Given the description of an element on the screen output the (x, y) to click on. 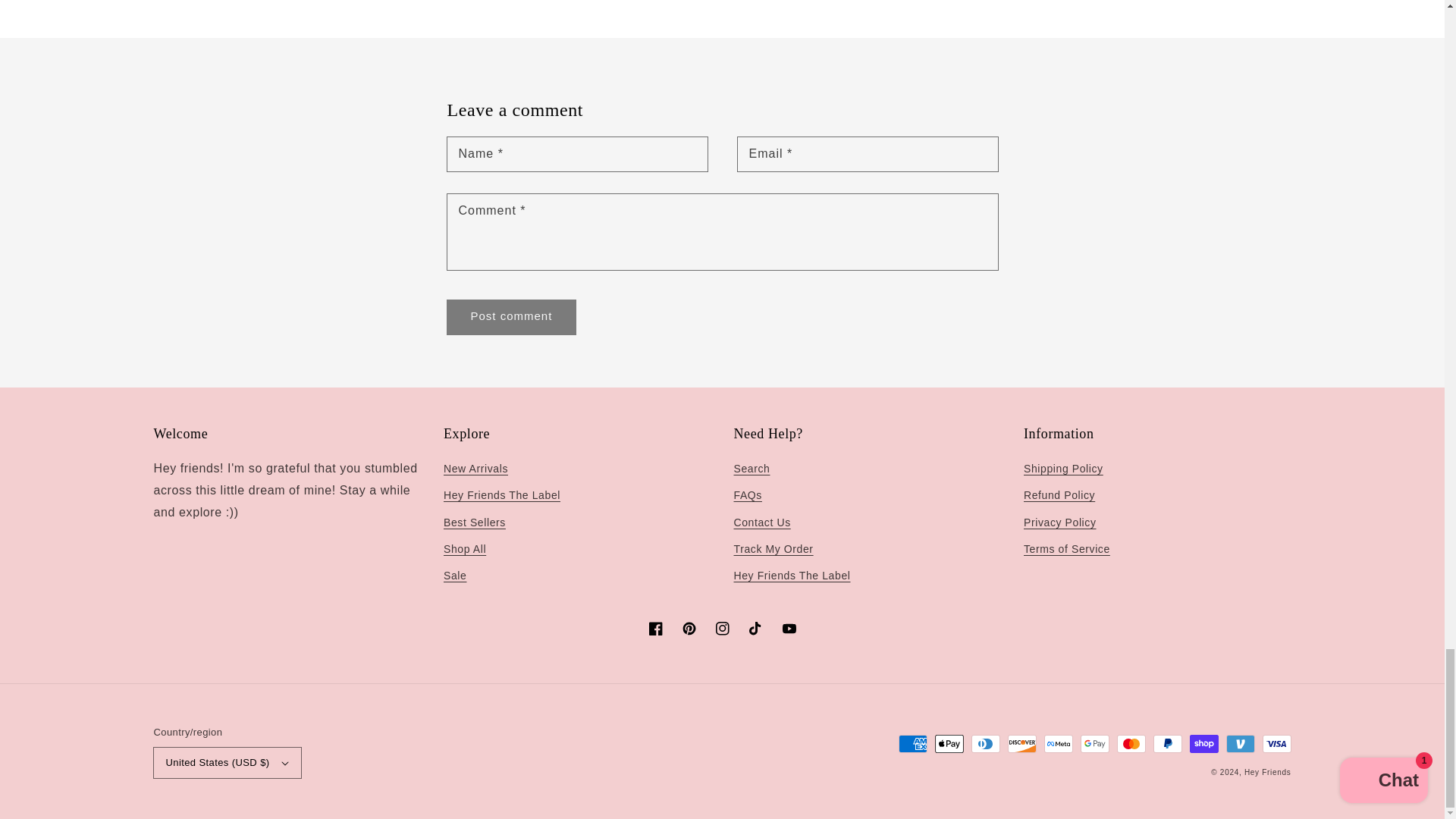
Post comment (511, 317)
